Given the description of an element on the screen output the (x, y) to click on. 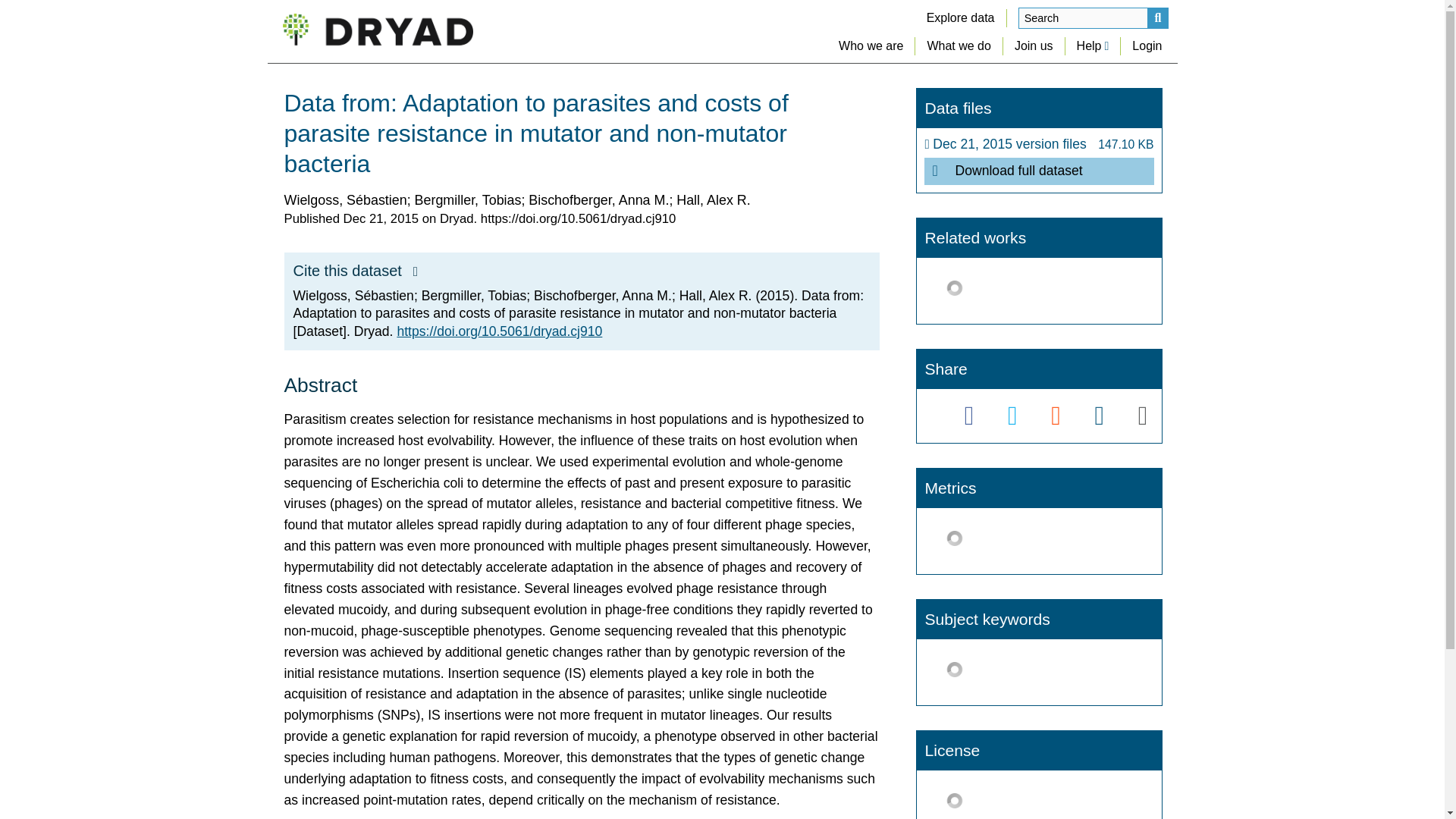
Who we are (870, 45)
